Given the description of an element on the screen output the (x, y) to click on. 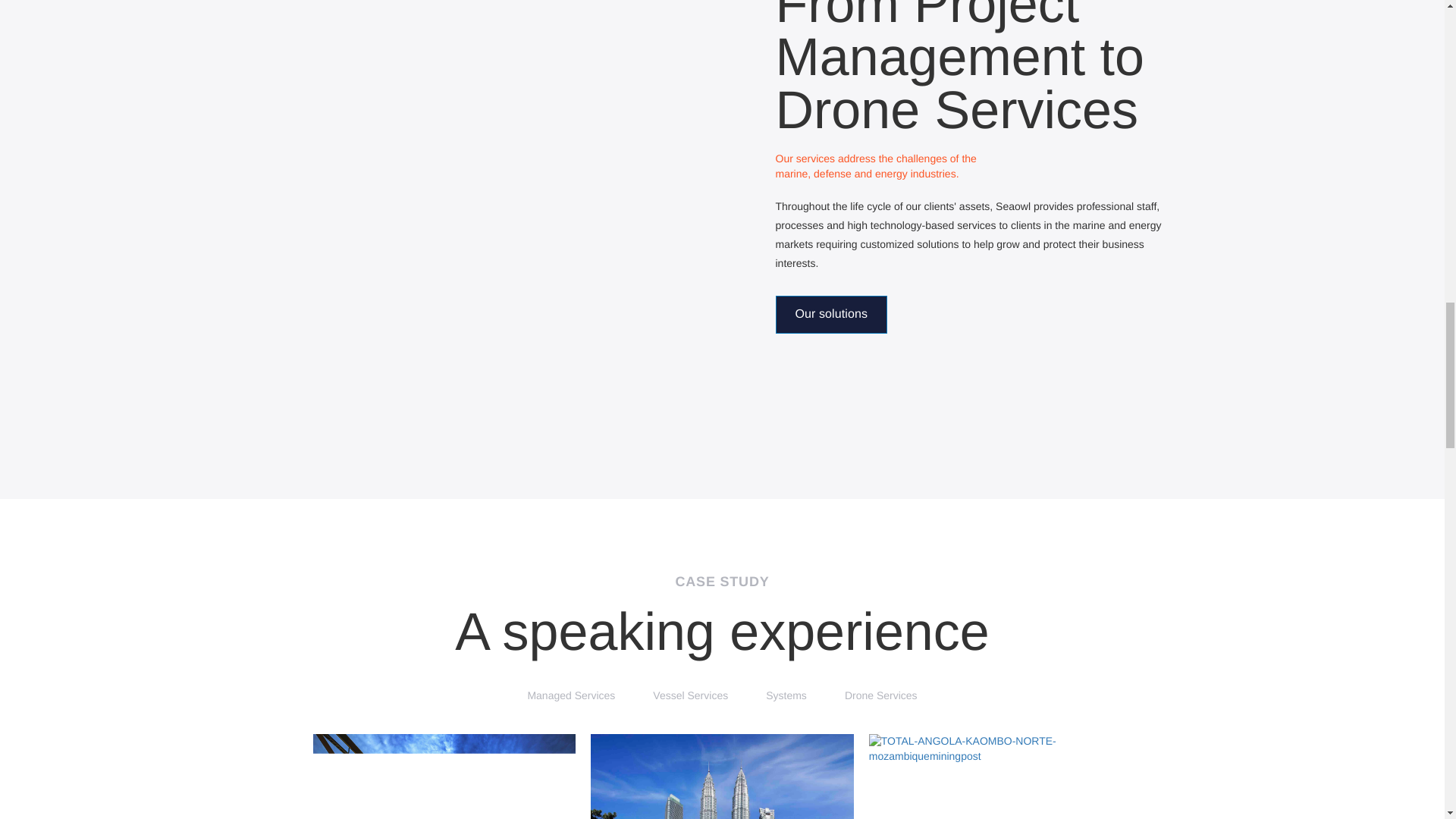
Our solutions (830, 314)
Systems (785, 695)
Vessel Services (690, 695)
Managed Services (571, 695)
